Given the description of an element on the screen output the (x, y) to click on. 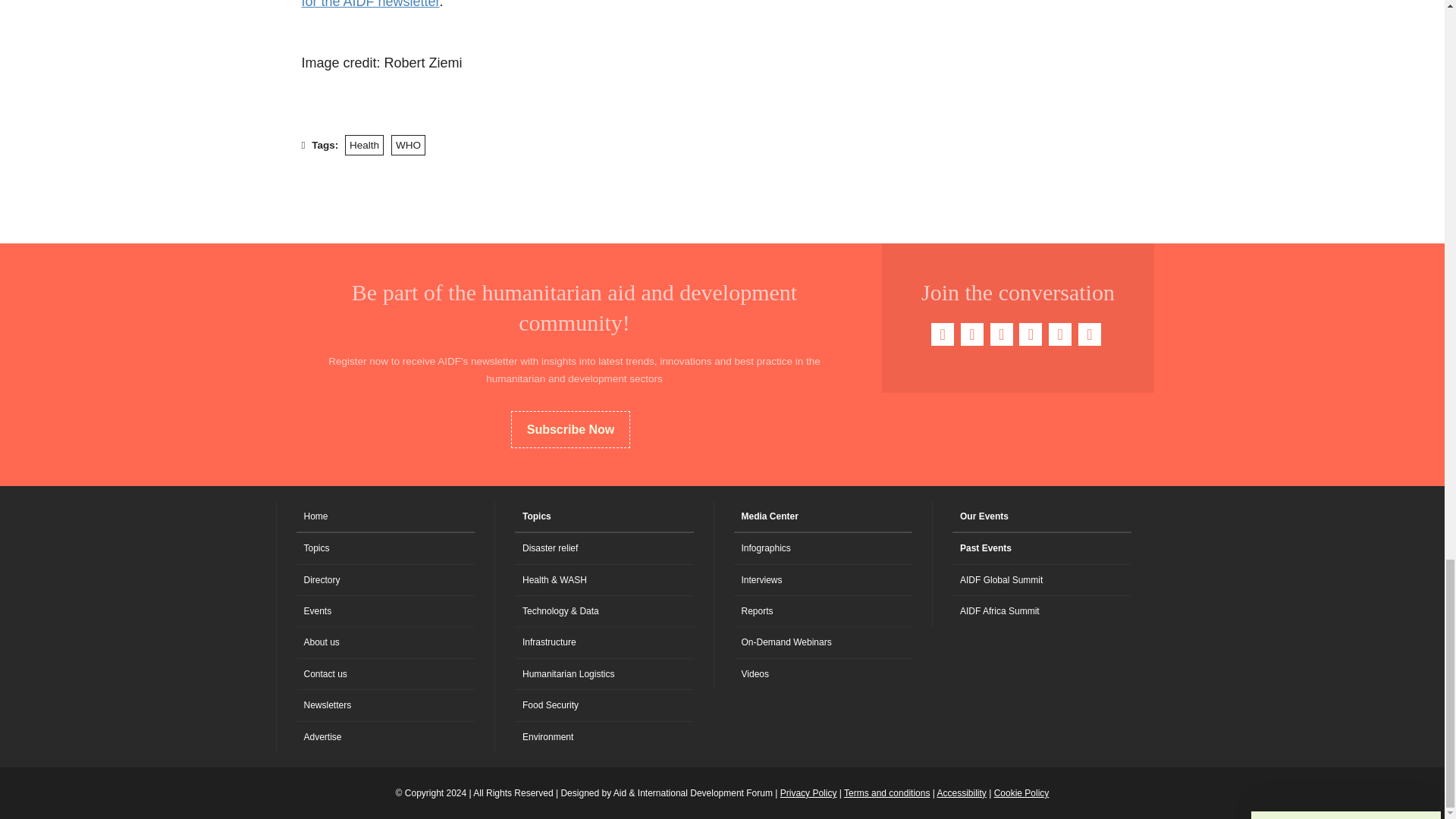
WHO (408, 145)
Health (364, 145)
Facebook (942, 333)
